Given the description of an element on the screen output the (x, y) to click on. 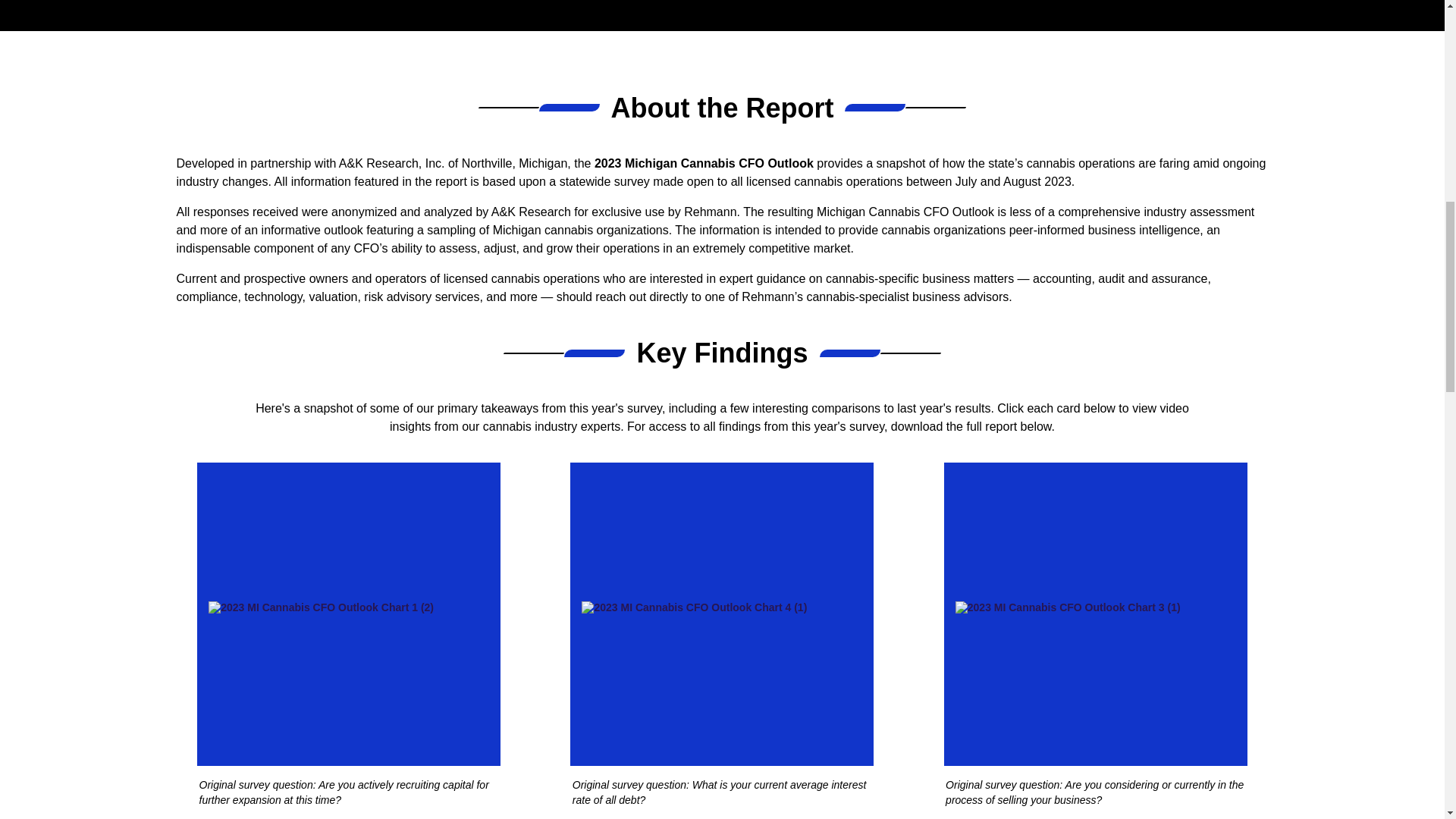
Chris Rosmarin, CPA, (1053, 665)
Chris Rosmarin, CPA, (437, 666)
HubSpot Video (720, 580)
HubSpot Video (348, 580)
Chris Rosmarin, CPA, (703, 666)
Erik Schumacher, CPA, (1180, 665)
Maher Faik, CPA, (819, 666)
HubSpot Video (1095, 578)
